Given the description of an element on the screen output the (x, y) to click on. 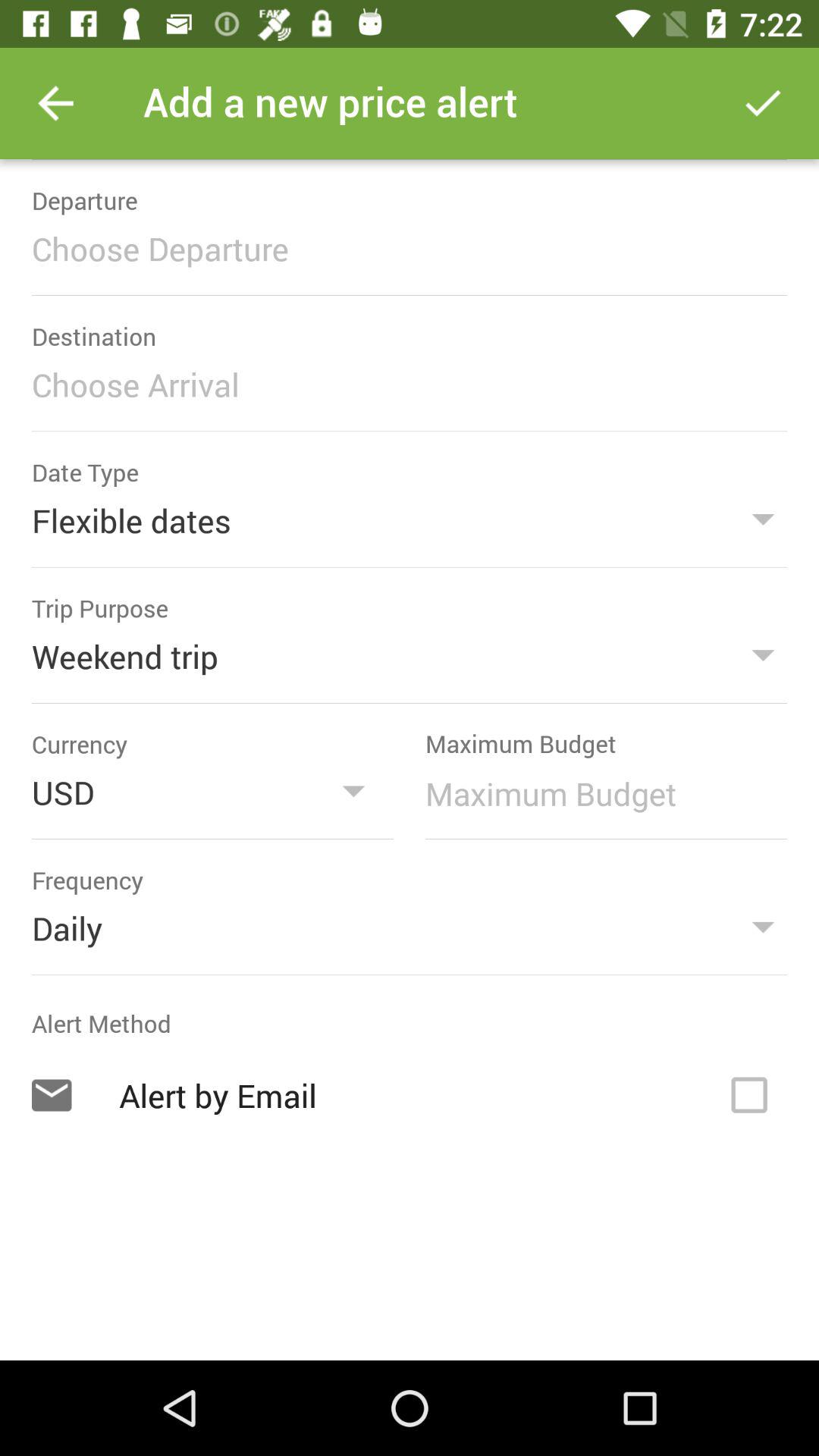
toggle alert by email (749, 1094)
